Given the description of an element on the screen output the (x, y) to click on. 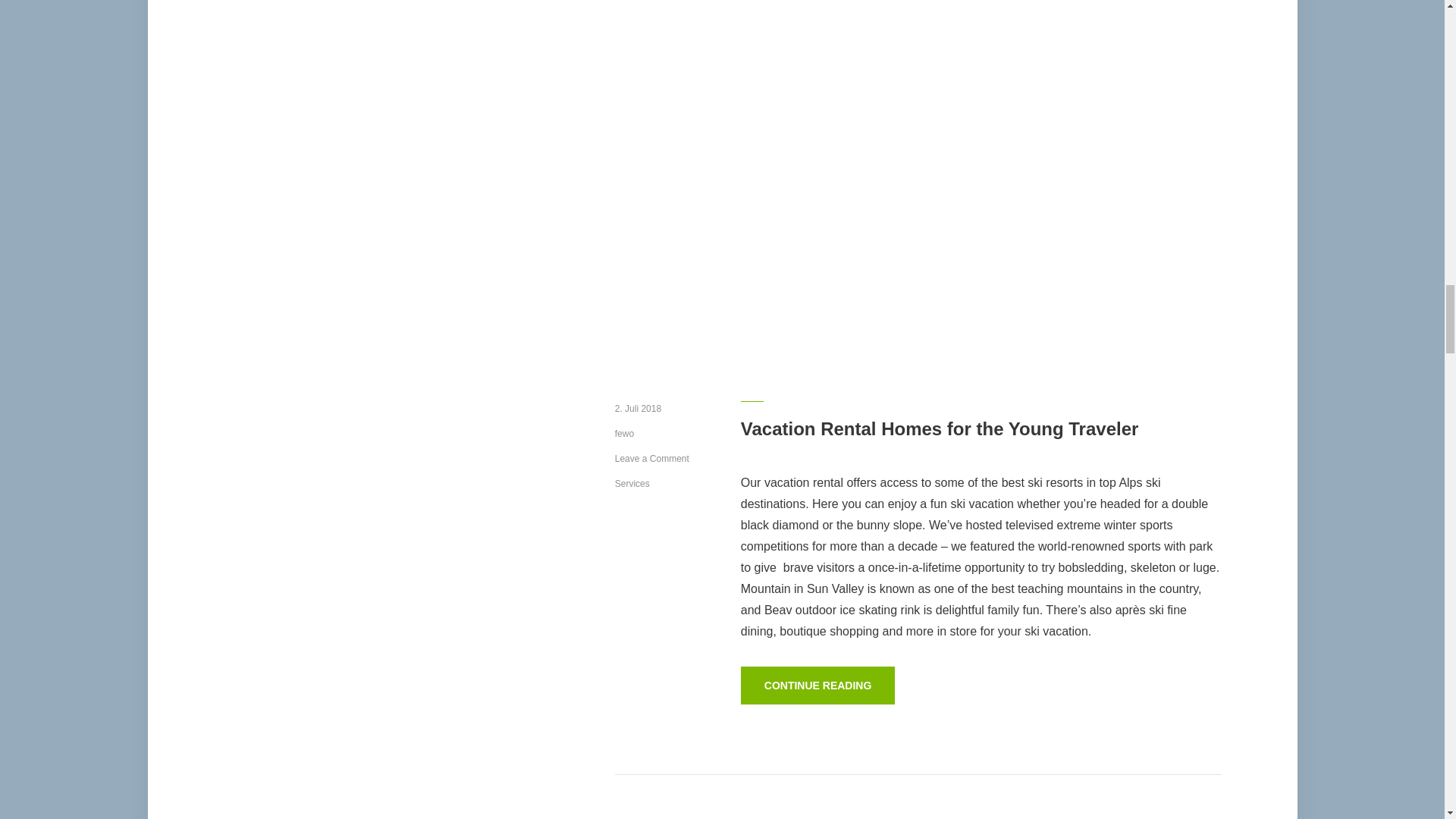
2. Juli 2018 (637, 408)
fewo (623, 433)
Vacation Rental Homes for the Young Traveler (939, 428)
